Given the description of an element on the screen output the (x, y) to click on. 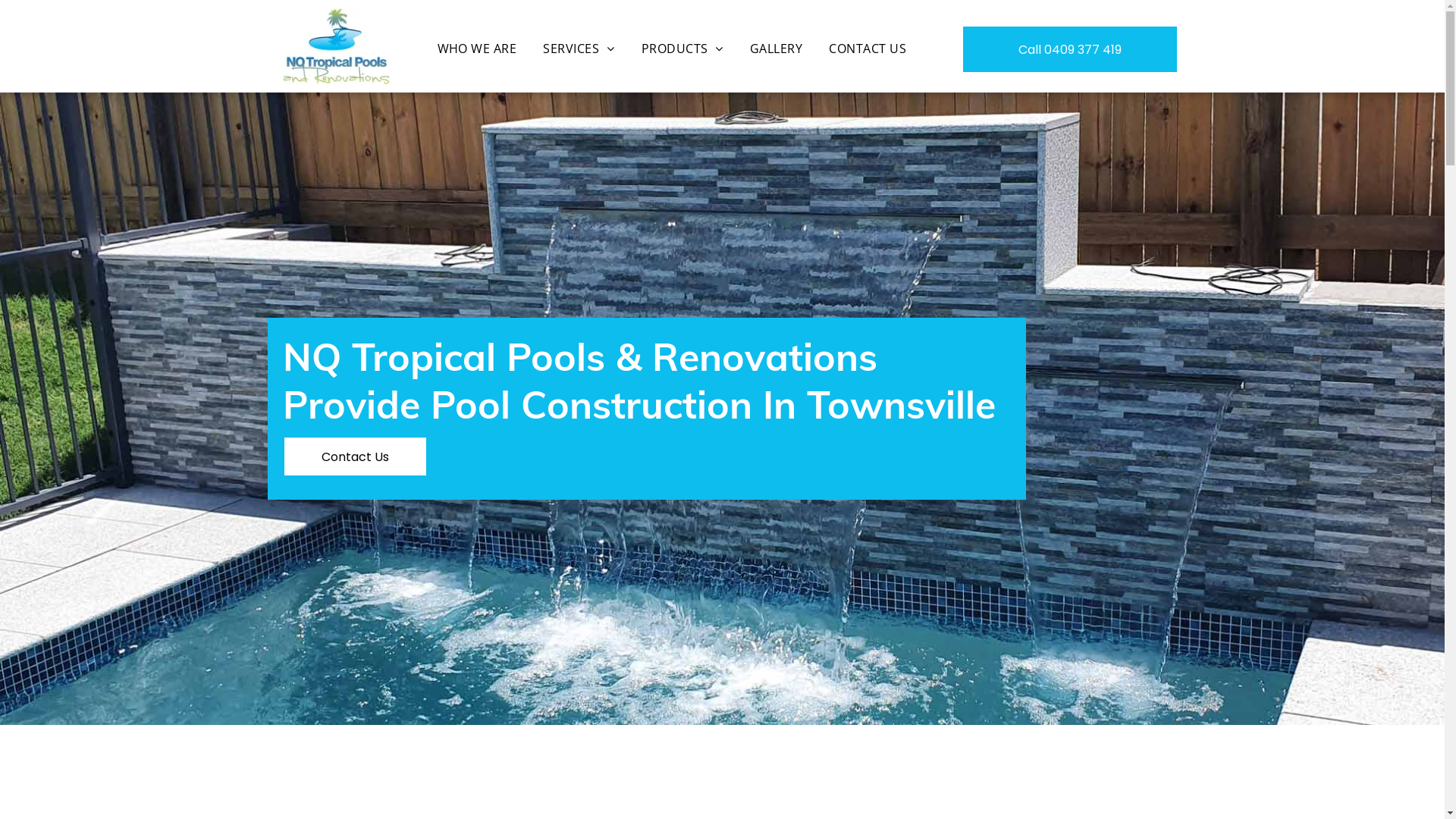
CONTACT US Element type: text (867, 48)
SERVICES Element type: text (578, 48)
PRODUCTS Element type: text (682, 48)
Call 0409 377 419 Element type: text (1069, 49)
GALLERY Element type: text (775, 48)
Contact Us Element type: text (354, 456)
WHO WE ARE Element type: text (477, 48)
